Given the description of an element on the screen output the (x, y) to click on. 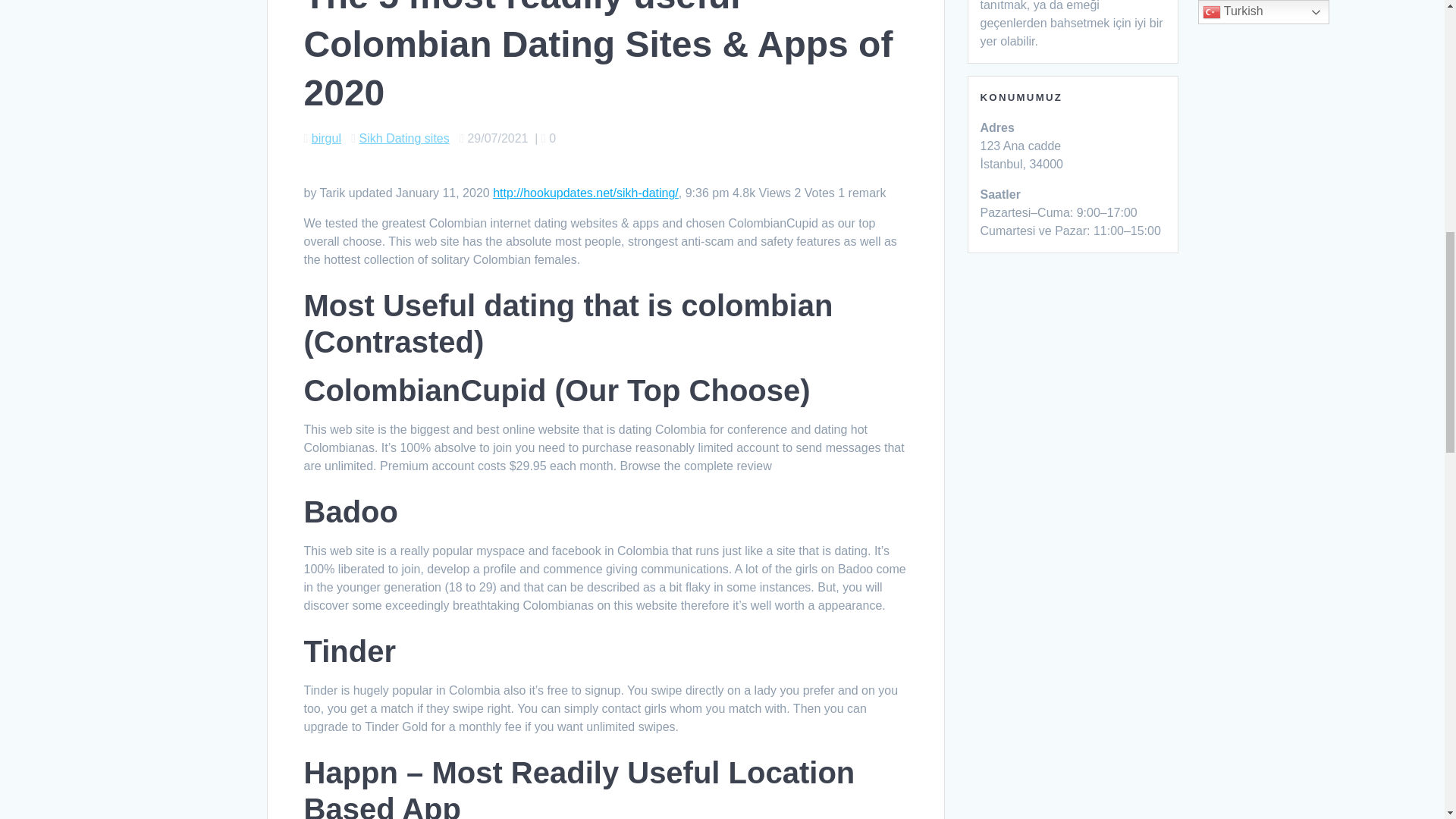
birgul (325, 137)
Sikh Dating sites (404, 137)
